Given the description of an element on the screen output the (x, y) to click on. 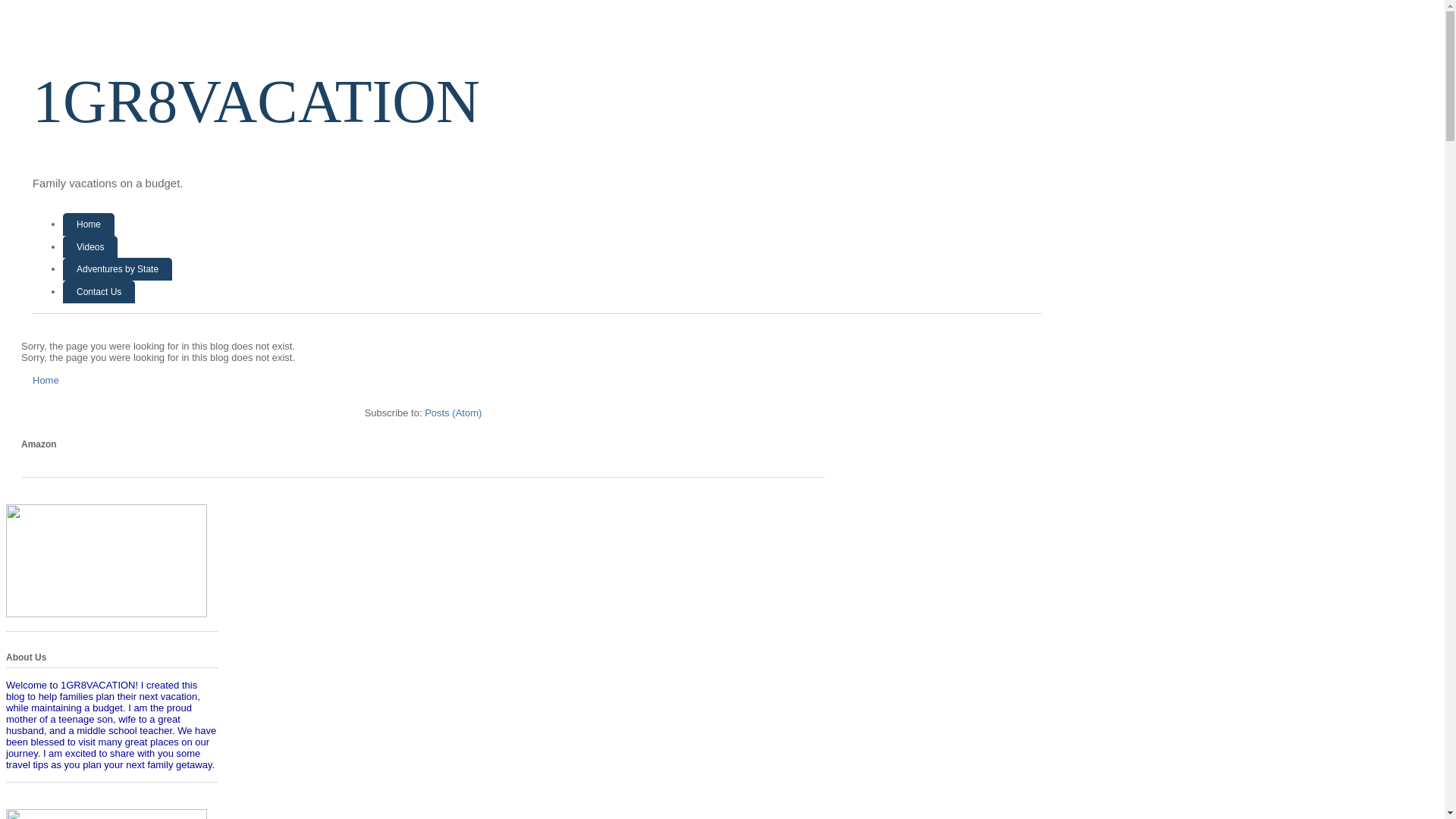
Posts (Atom) Element type: text (452, 411)
Contact Us Element type: text (98, 291)
1GR8VACATION Element type: text (256, 101)
Home Element type: text (88, 224)
Videos Element type: text (89, 246)
Adventures by State Element type: text (117, 268)
Home Element type: text (45, 379)
